Given the description of an element on the screen output the (x, y) to click on. 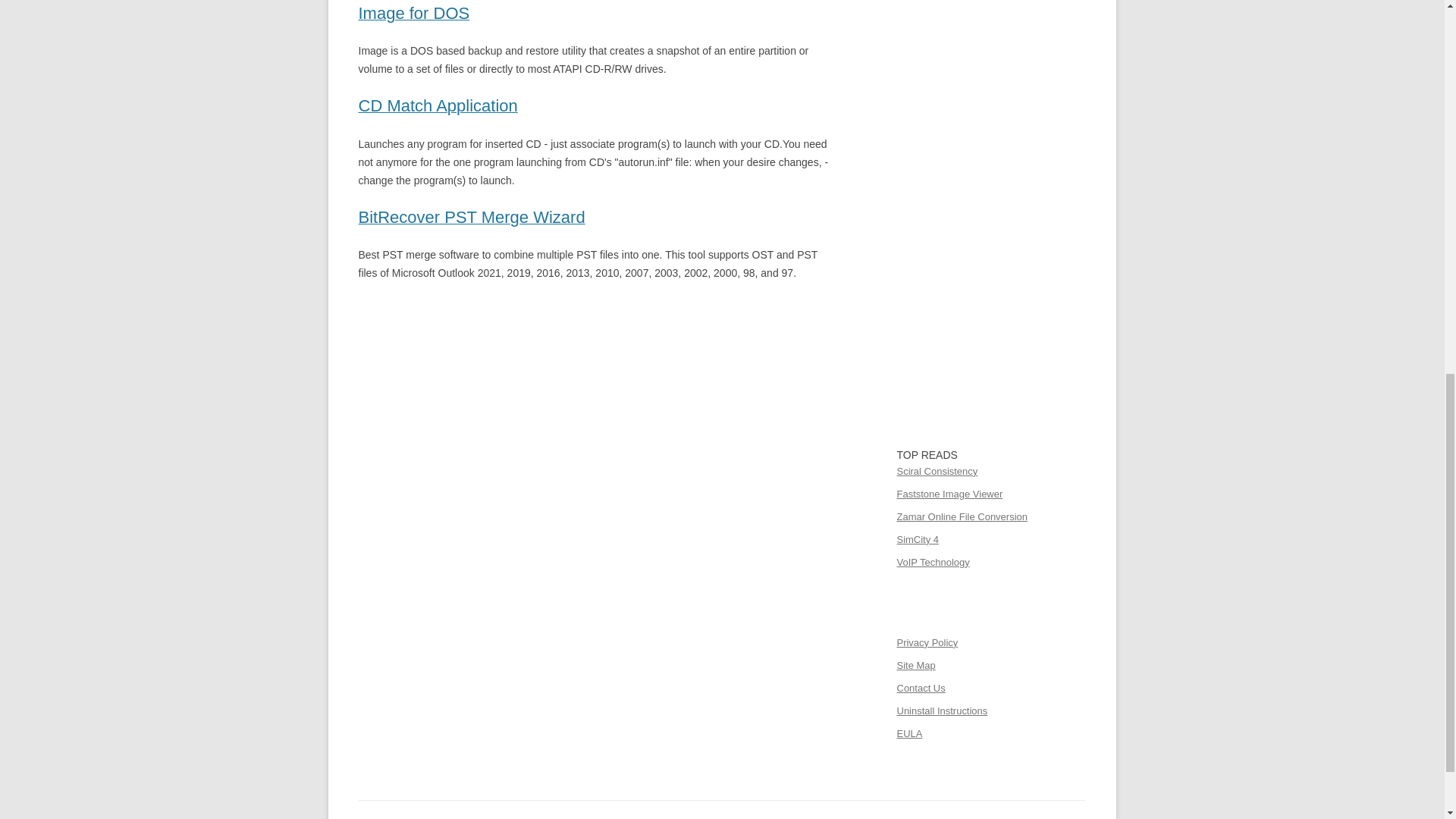
CD Match Application (437, 107)
Zamar Online File Conversion (961, 516)
Sciral Consistency (936, 471)
Image for DOS (413, 15)
BitRecover PST Merge Wizard (471, 218)
SimCity 4 (917, 539)
VoIP Technology (932, 562)
Faststone Image Viewer (949, 493)
